Given the description of an element on the screen output the (x, y) to click on. 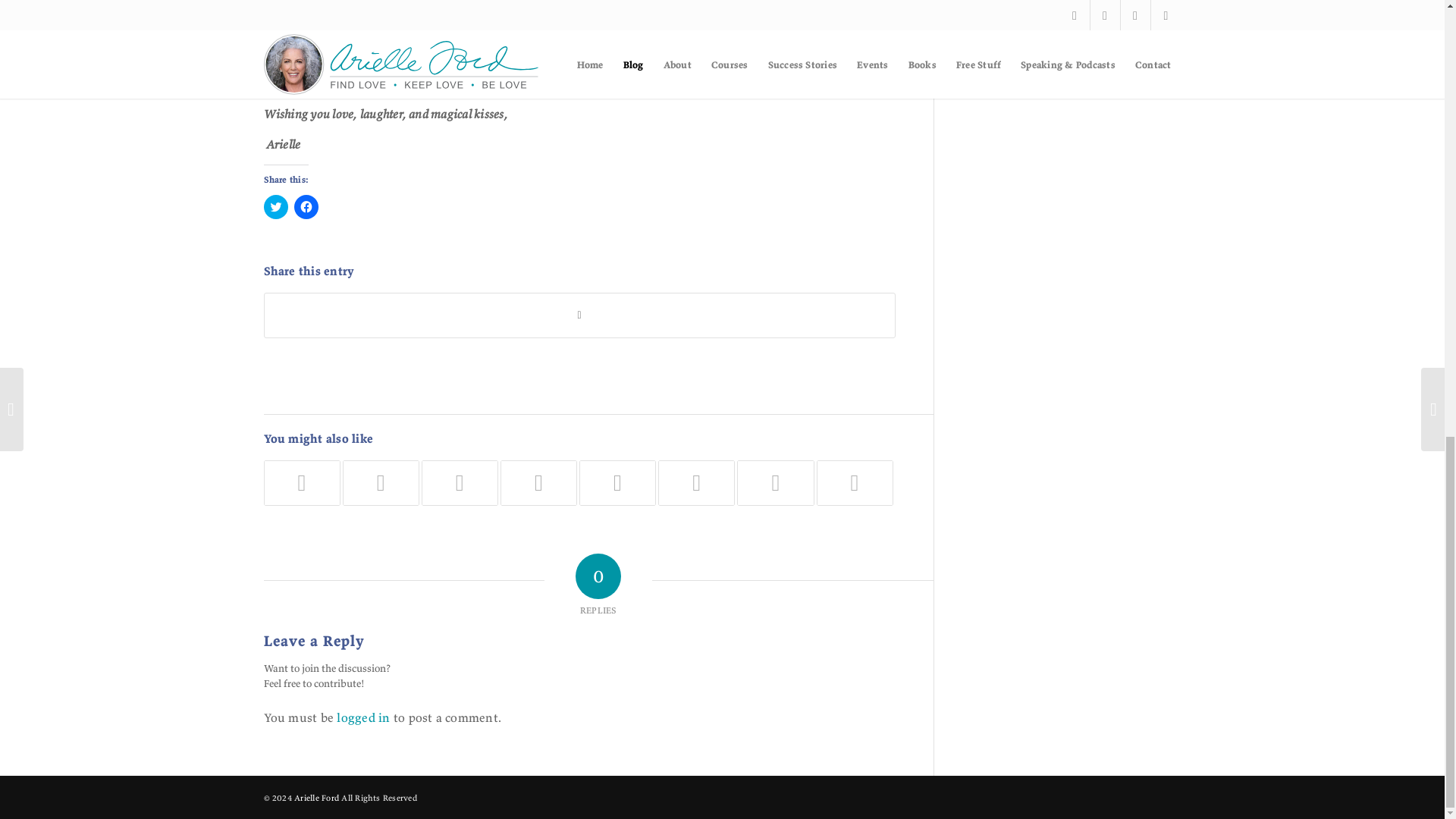
Let Your Heart Heal Your Negative Thinking (301, 483)
Two Minute LOVE fix! (617, 483)
Be A Love Philanthropist (380, 483)
Easy Feng Shui for Fabulous Spring Manifesting (538, 483)
Getting Clean with Iyanla Van Zant (696, 483)
Click to share on Twitter (275, 206)
Click to share on Facebook (306, 206)
